Given the description of an element on the screen output the (x, y) to click on. 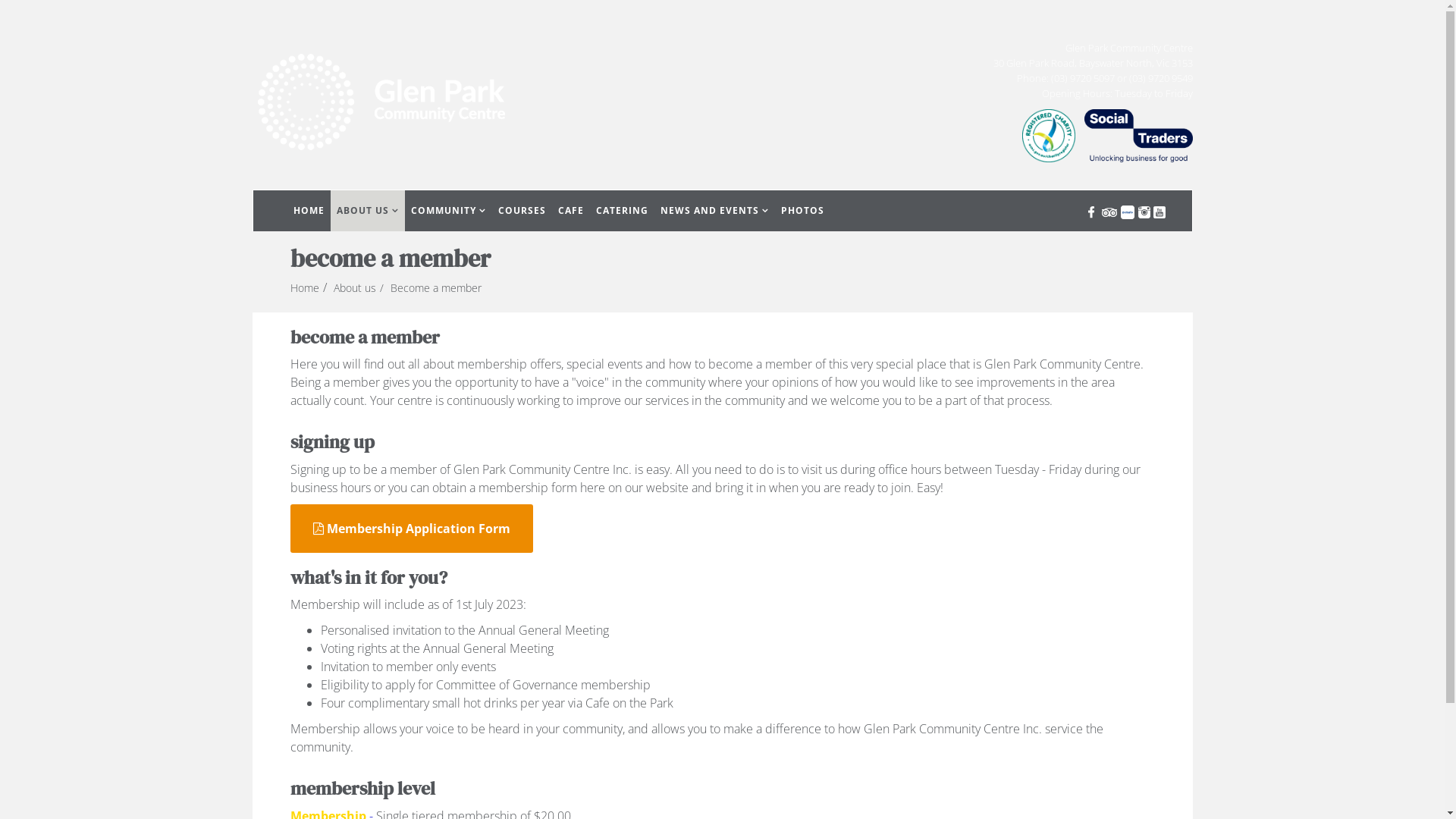
Glen Park Community Centre Facebook Element type: hover (1090, 210)
Home Element type: text (303, 287)
CATERING Element type: text (621, 210)
COURSES Element type: text (521, 210)
(03) 9720 5097 Element type: text (1082, 77)
COMMUNITY Element type: text (448, 210)
Membership Application Form Element type: text (410, 528)
Glen Park Community Centre Zomato Element type: hover (1126, 210)
NEWS AND EVENTS Element type: text (713, 210)
PHOTOS Element type: text (802, 210)
Glen Park Community Centre Trip Advisor Element type: hover (1108, 210)
CAFE Element type: text (570, 210)
HOME Element type: text (307, 210)
Instagram Element type: hover (1143, 210)
About us Element type: text (354, 287)
ABOUT US Element type: text (367, 210)
(03) 9720 9549 Element type: text (1160, 77)
